Given the description of an element on the screen output the (x, y) to click on. 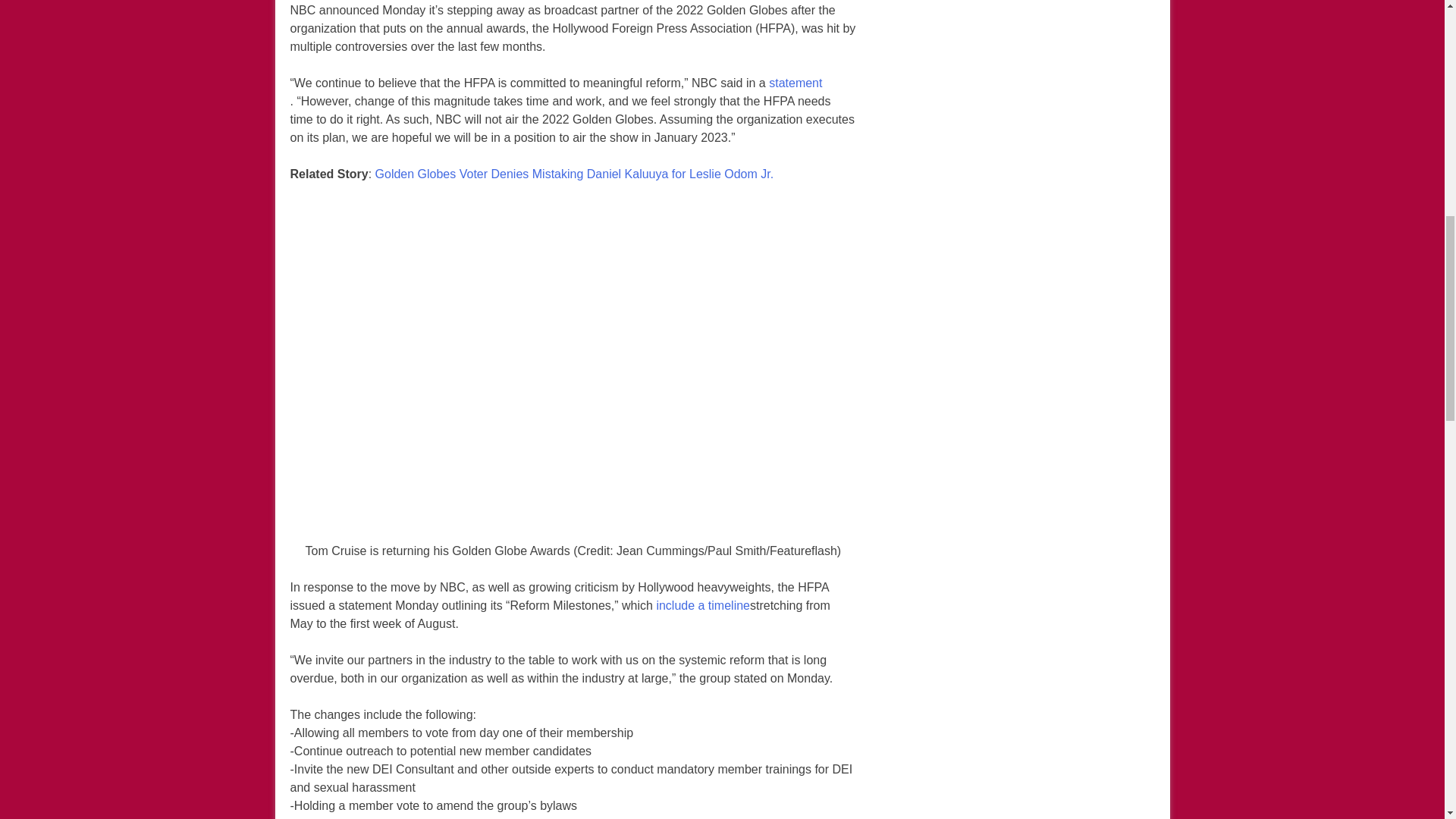
include a timeline (702, 606)
statement (795, 83)
